Given the description of an element on the screen output the (x, y) to click on. 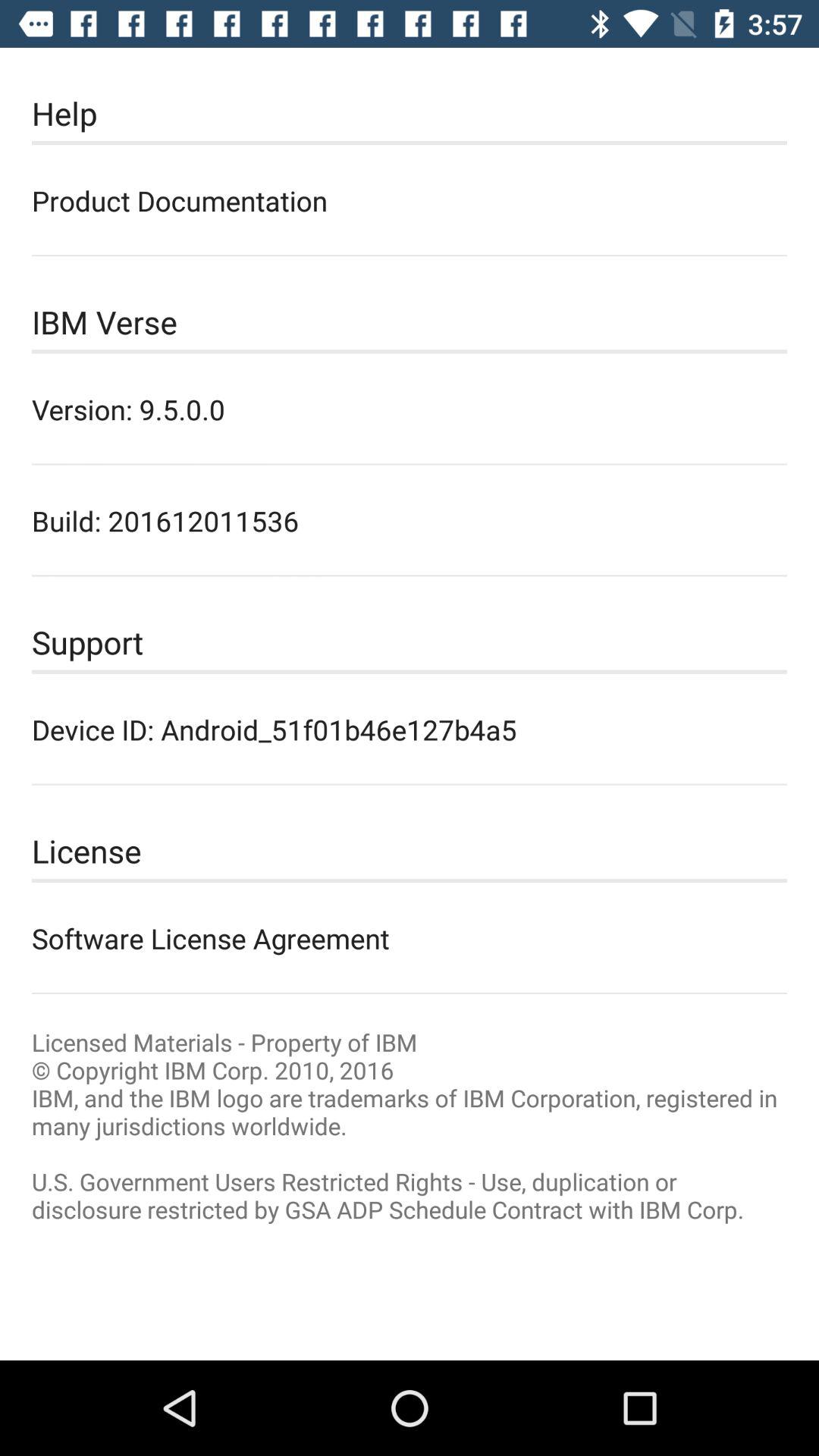
turn on the software license agreement icon (409, 938)
